Given the description of an element on the screen output the (x, y) to click on. 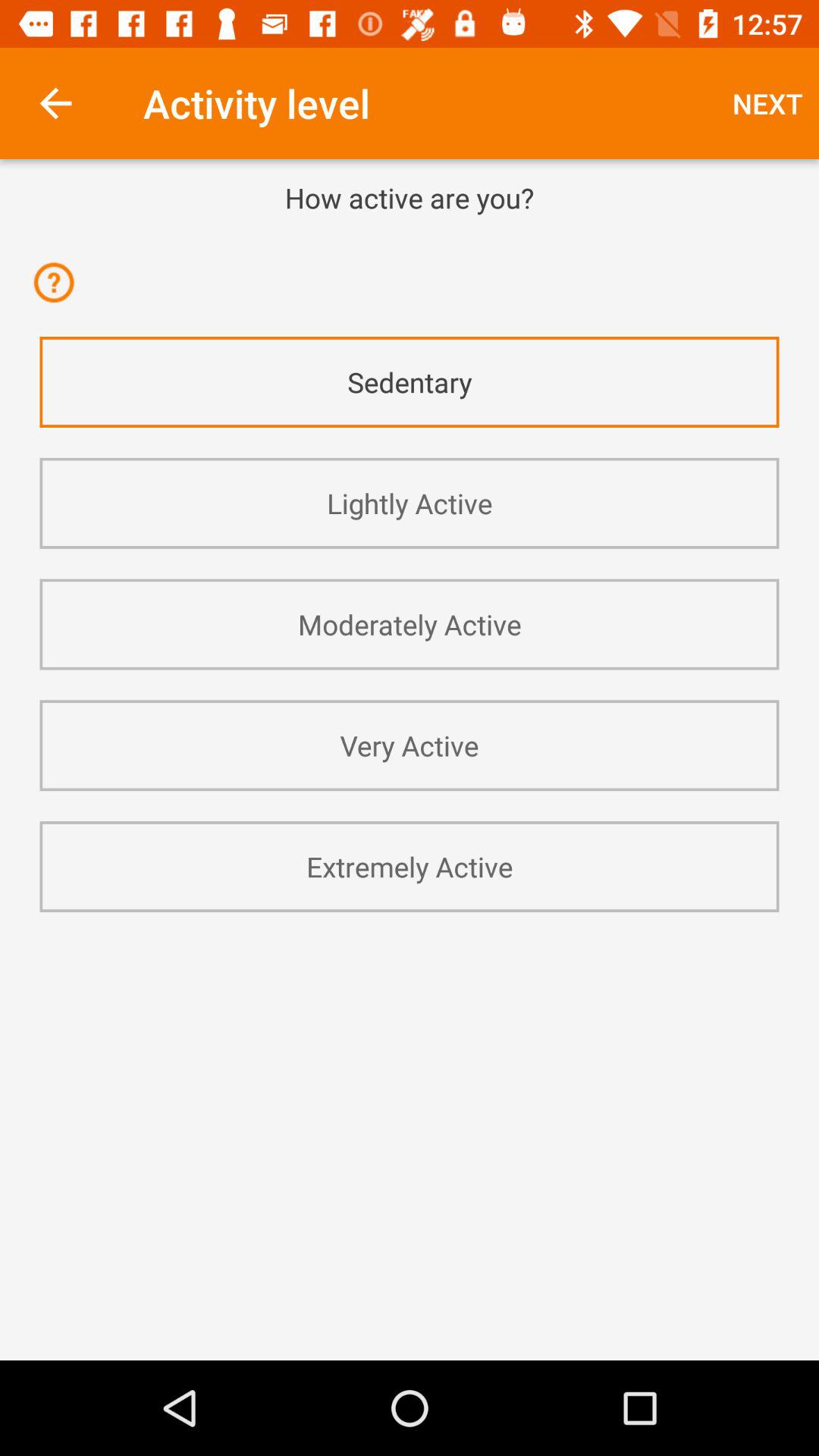
press the icon to the left of the activity level icon (55, 103)
